Given the description of an element on the screen output the (x, y) to click on. 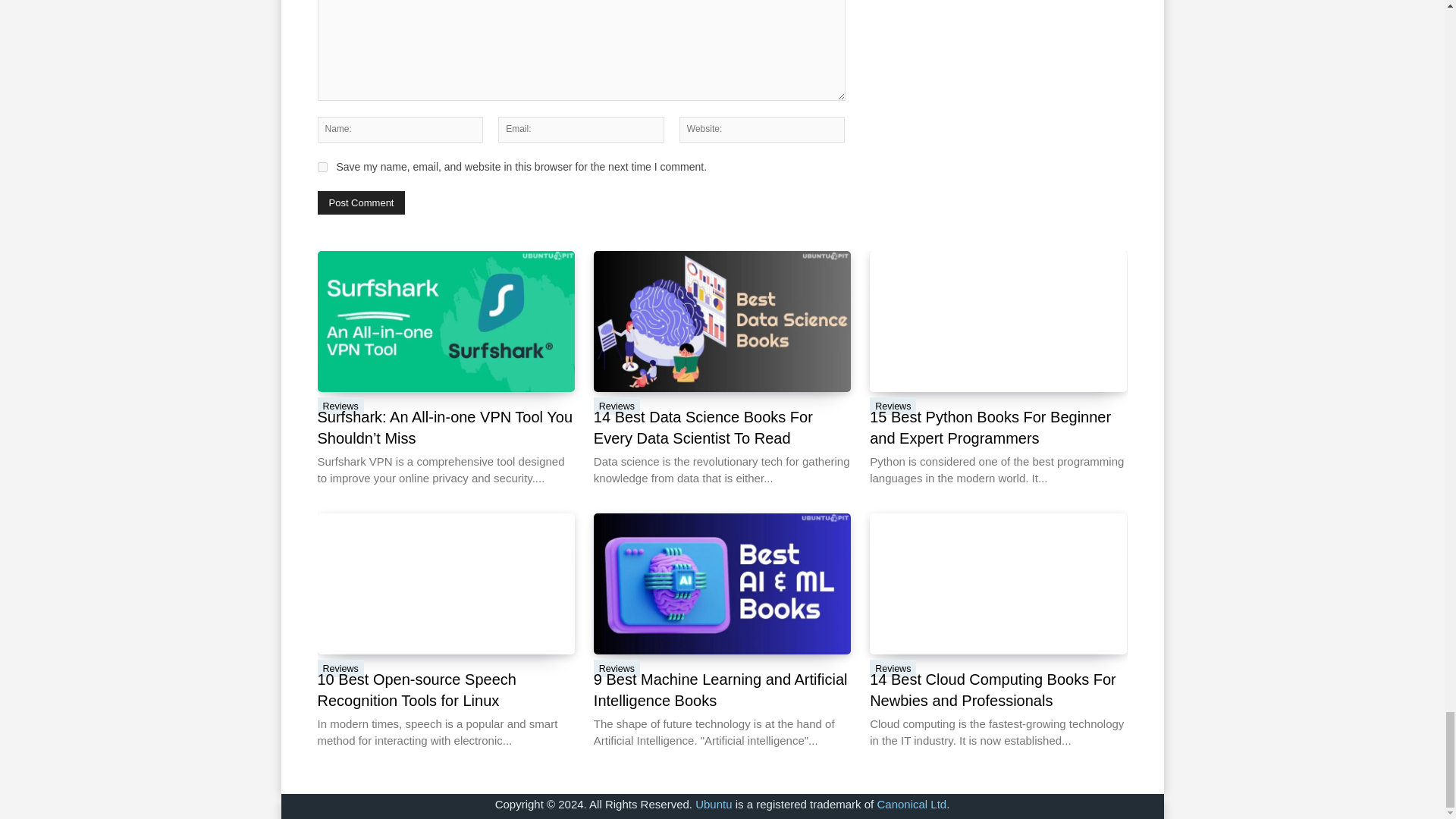
yes (321, 166)
Post Comment (360, 202)
